Given the description of an element on the screen output the (x, y) to click on. 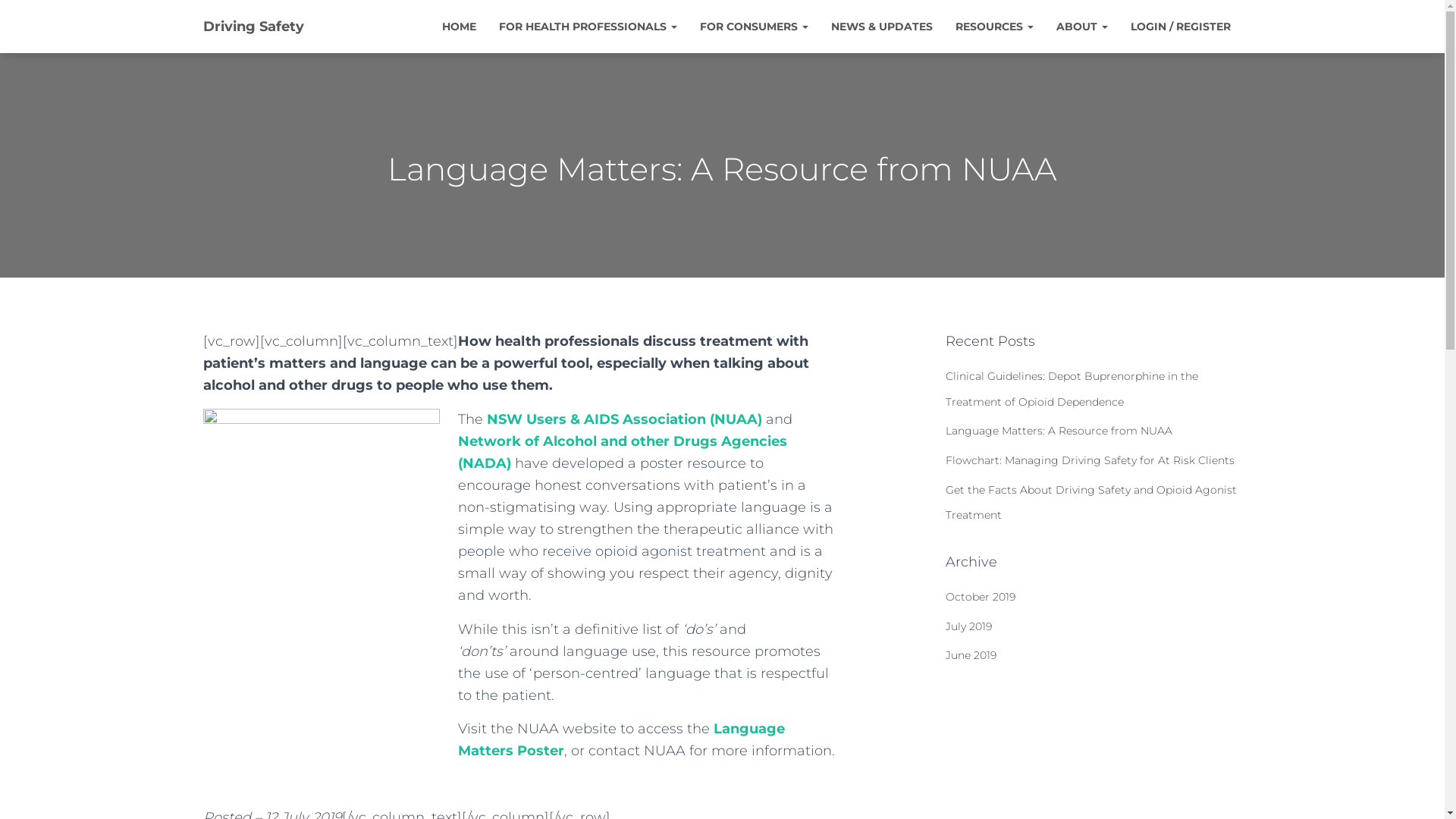
NSW Users & AIDS Association (NUAA) Element type: text (624, 419)
RESOURCES Element type: text (993, 25)
) Element type: text (508, 463)
July 2019 Element type: text (968, 626)
Network of Alcohol and other Drugs Agencies (NADA Element type: text (622, 452)
HOME Element type: text (458, 25)
Language Matters Poster Element type: text (621, 739)
June 2019 Element type: text (970, 655)
ABOUT Element type: text (1081, 25)
Language Matters: A Resource from NUAA Element type: text (1058, 430)
Driving Safety Element type: text (252, 26)
October 2019 Element type: text (980, 596)
LOGIN / REGISTER Element type: text (1180, 25)
Flowchart: Managing Driving Safety for At Risk Clients Element type: text (1089, 460)
FOR HEALTH PROFESSIONALS Element type: text (586, 25)
FOR CONSUMERS Element type: text (753, 25)
NEWS & UPDATES Element type: text (881, 25)
